Given the description of an element on the screen output the (x, y) to click on. 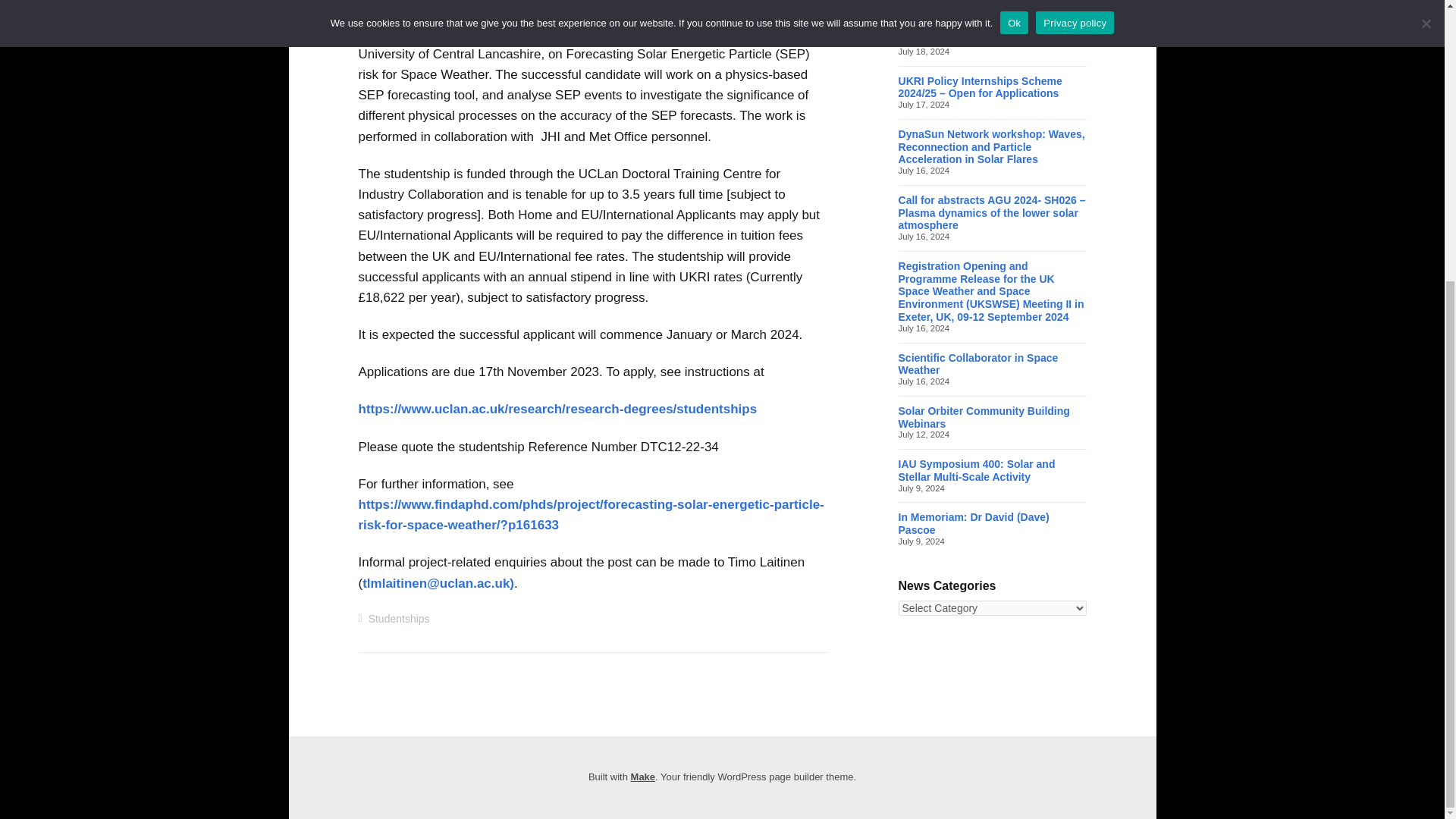
Studentships (398, 618)
